Given the description of an element on the screen output the (x, y) to click on. 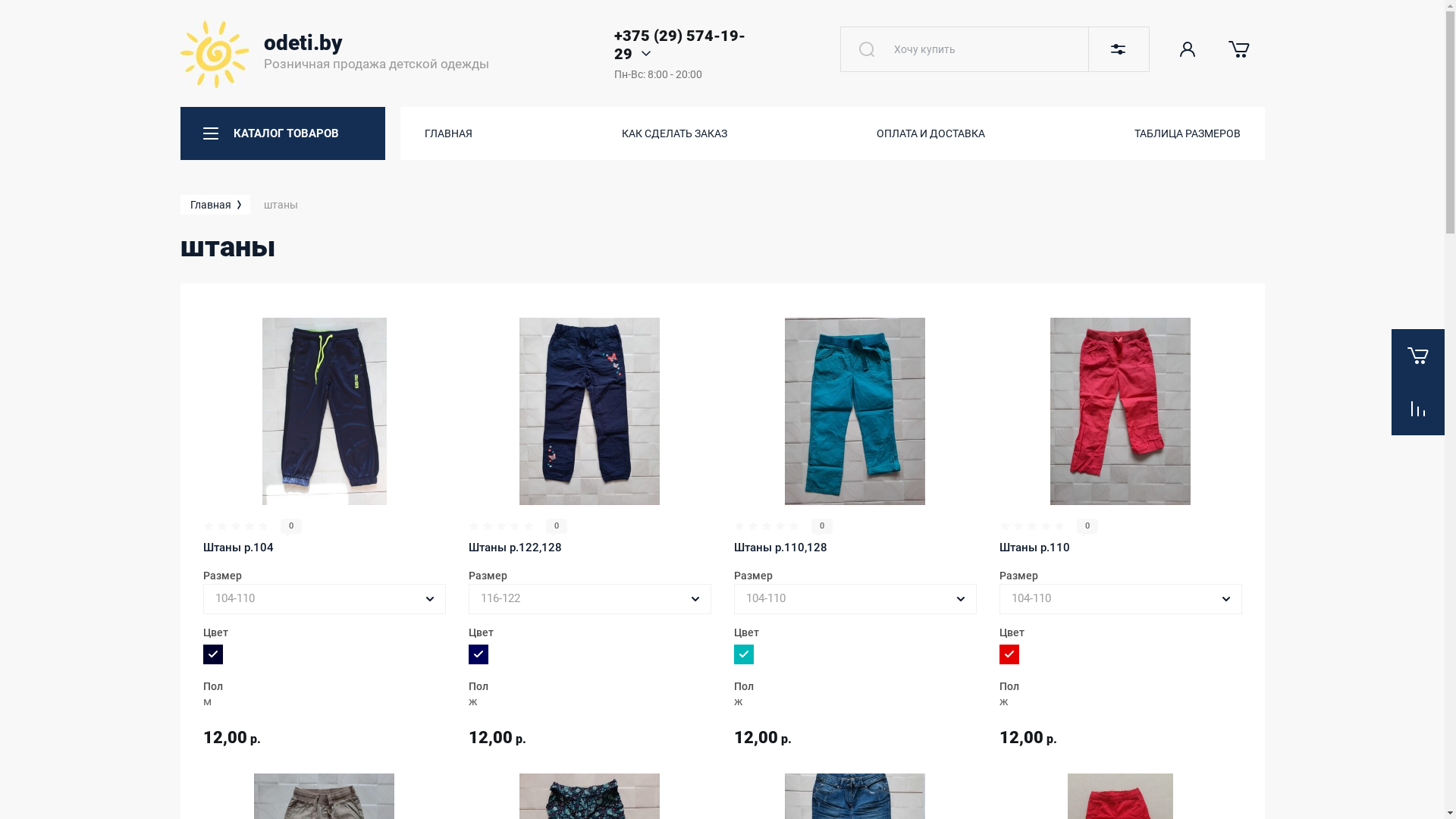
+375 (29) 574-19-29 Element type: text (679, 44)
odeti.by Element type: text (302, 42)
  Element type: text (866, 49)
